Given the description of an element on the screen output the (x, y) to click on. 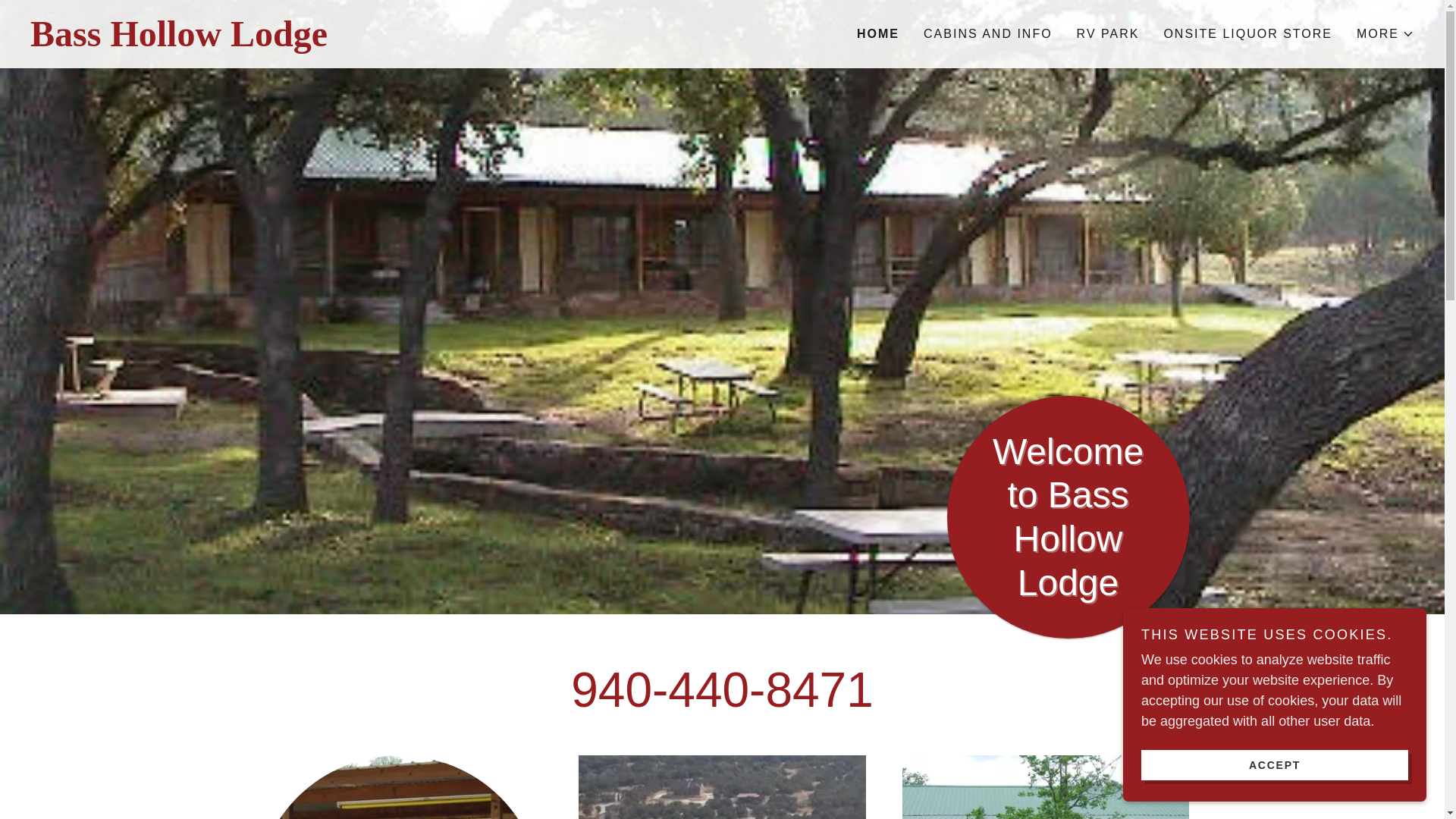
ACCEPT (1274, 764)
RV PARK (1107, 33)
Bass Hollow Lodge (376, 41)
ONSITE LIQUOR STORE (1247, 33)
CABINS AND INFO (987, 33)
Bass Hollow Lodge (376, 41)
MORE (1384, 34)
HOME (878, 34)
